Given the description of an element on the screen output the (x, y) to click on. 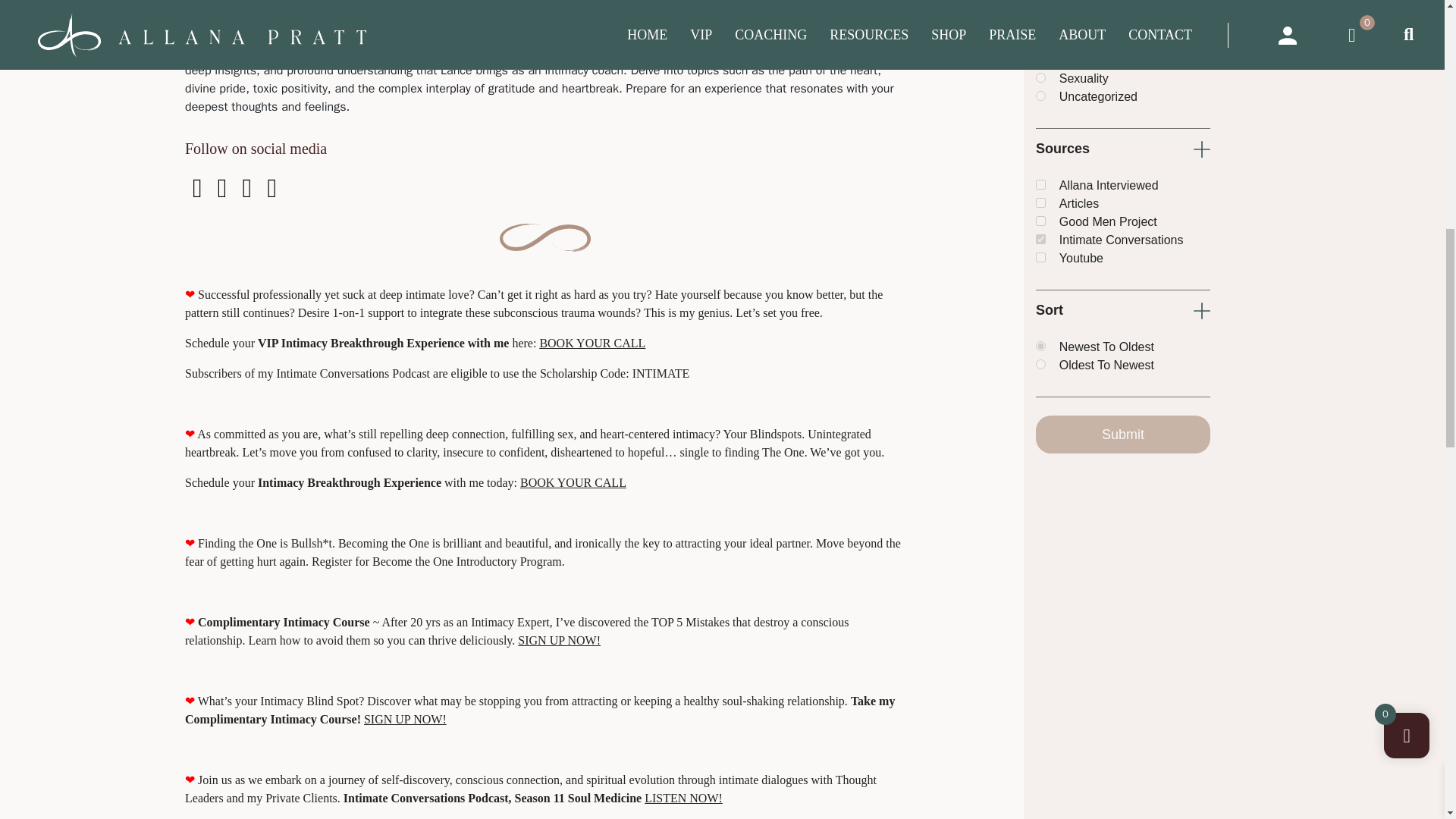
loneliness (1040, 4)
self-love (1040, 59)
SIGN UP NOW! (405, 718)
self-care (1040, 40)
intimate-conversations (1040, 239)
good-men-project (1040, 221)
uncategorized (1040, 95)
allana-interviewed (1040, 184)
parenting (1040, 22)
sexuality (1040, 77)
